Given the description of an element on the screen output the (x, y) to click on. 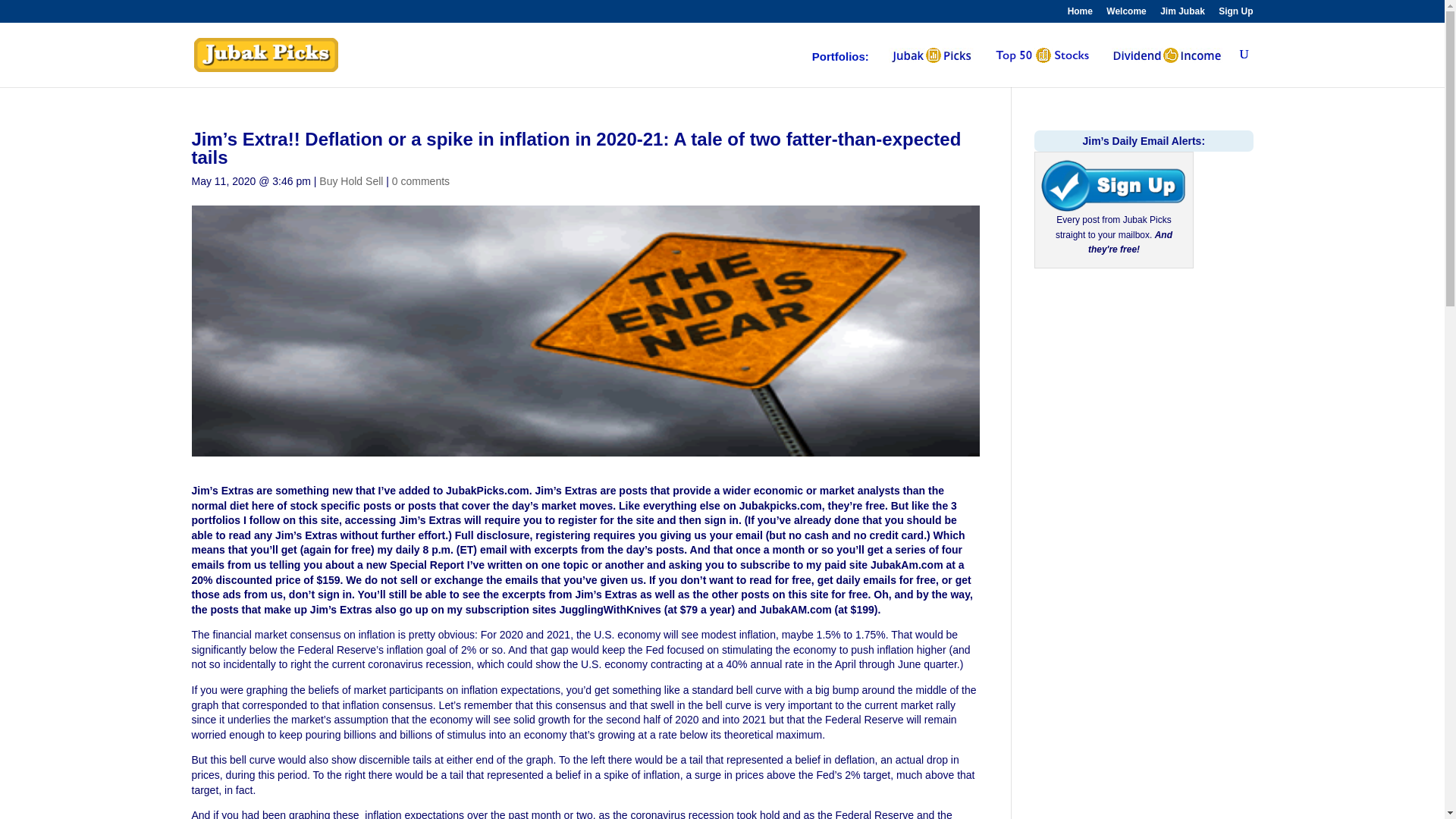
Welcome (1125, 14)
Home (1080, 14)
Portfolios: (840, 68)
Buy Hold Sell (350, 181)
Jim Jubak (1182, 14)
Sign Up (1235, 14)
0 comments (420, 181)
